Given the description of an element on the screen output the (x, y) to click on. 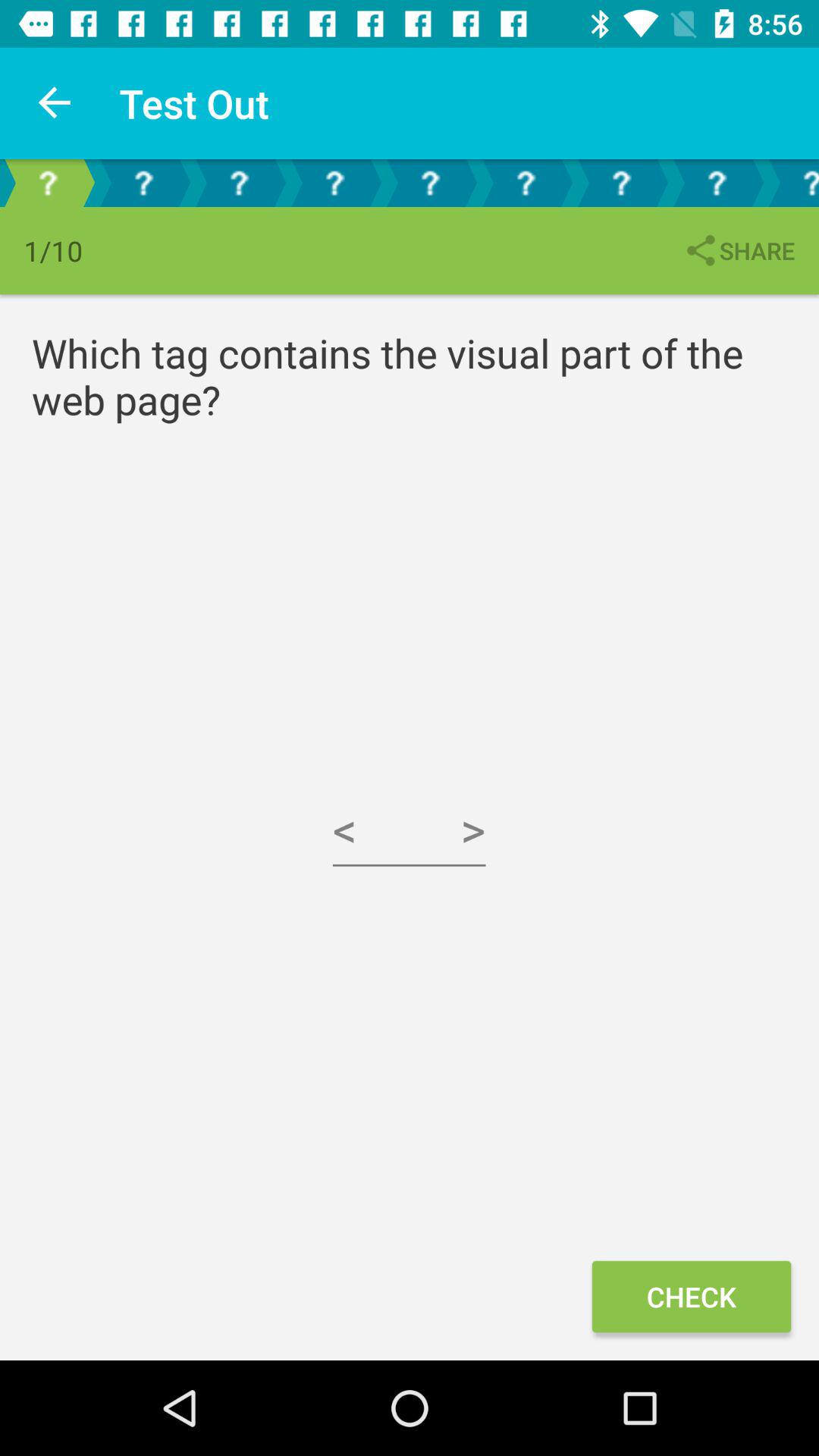
step for the query (525, 183)
